Given the description of an element on the screen output the (x, y) to click on. 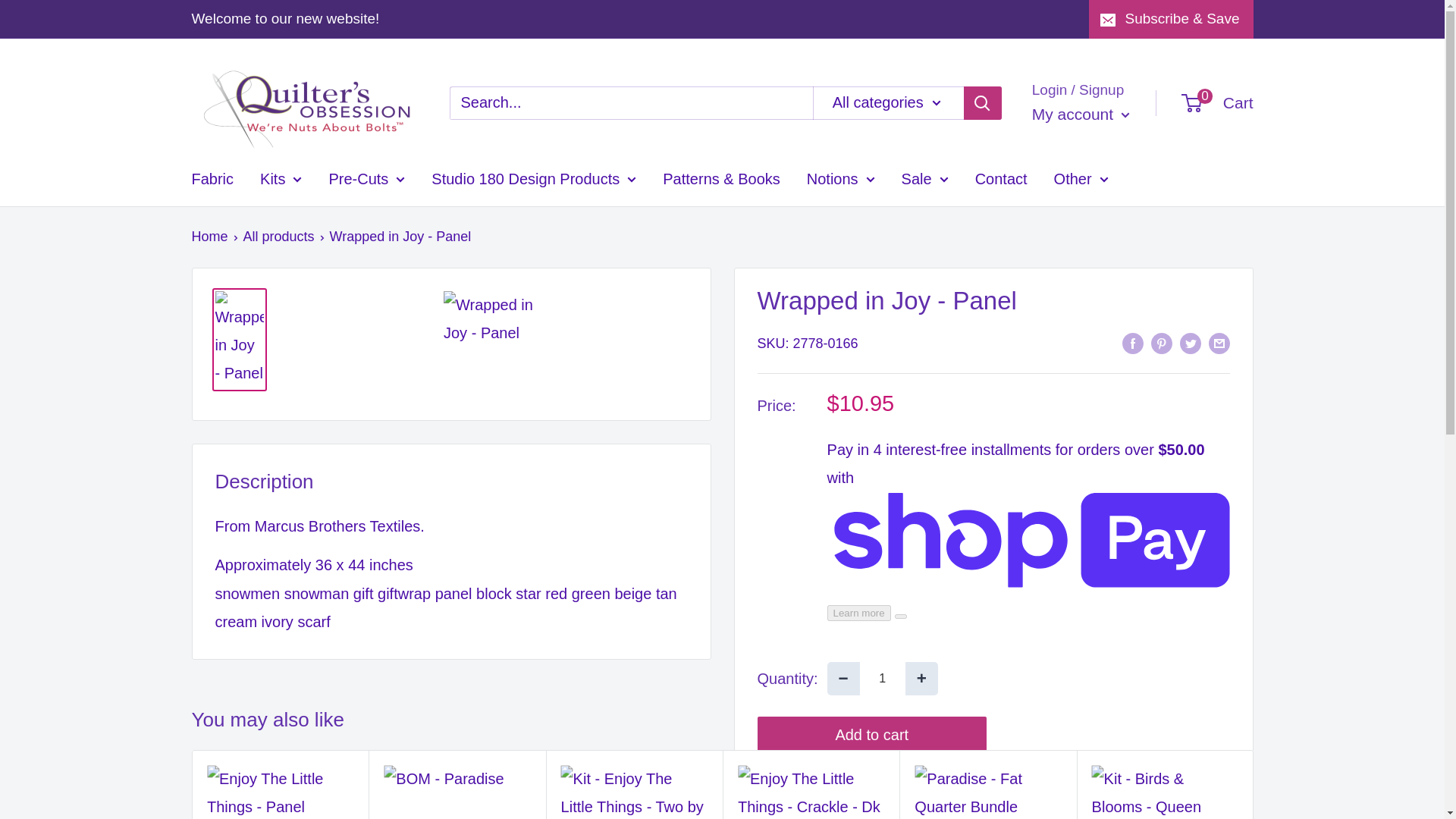
1 (882, 678)
Increase Quantity (921, 678)
Decrease Quantity (843, 678)
